Given the description of an element on the screen output the (x, y) to click on. 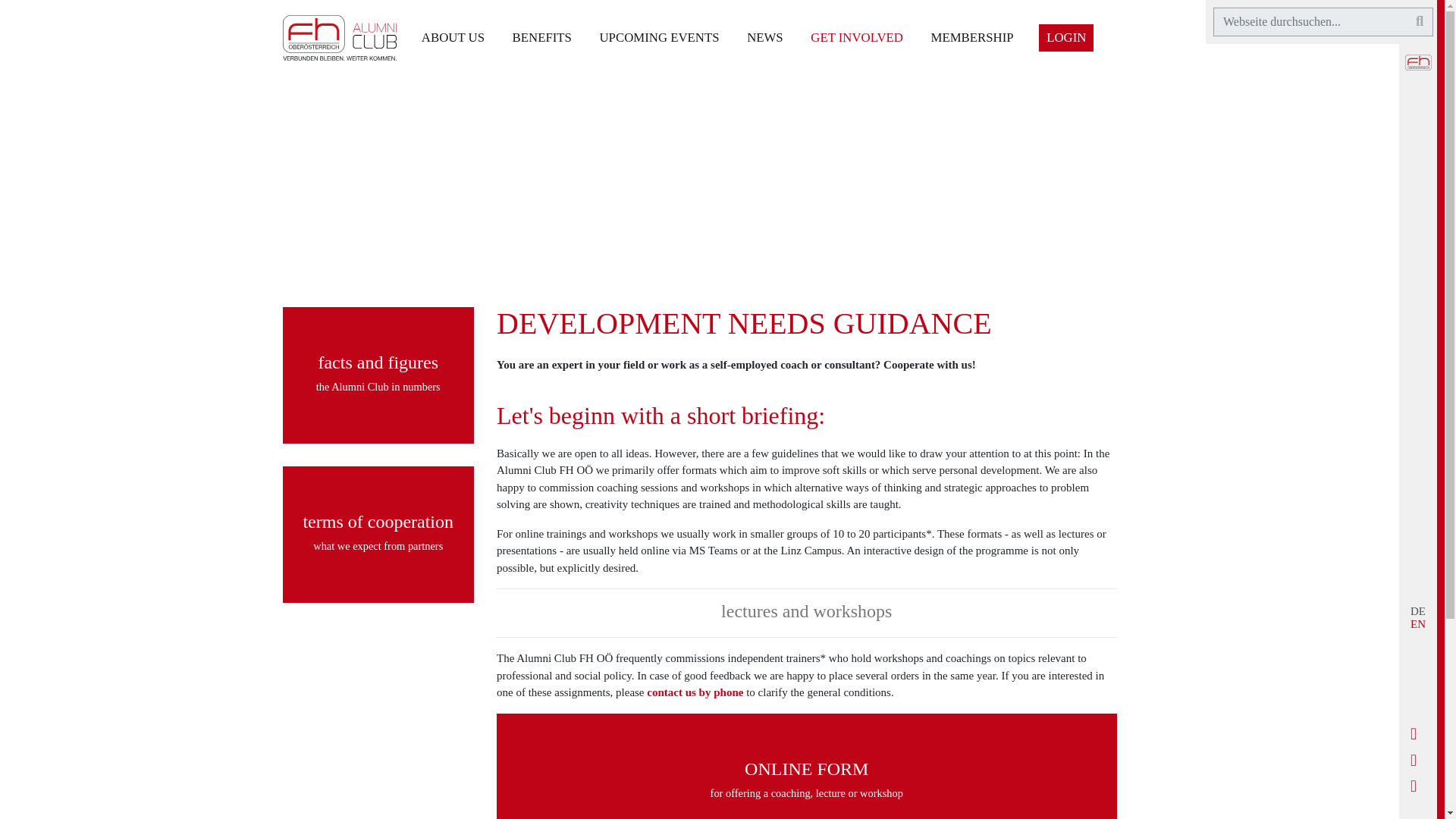
BENEFITS (542, 36)
MEMBERSHIP (972, 36)
contact us by phone (694, 692)
benefits (542, 36)
about us (454, 36)
LOGIN (1066, 37)
upcoming events (659, 36)
UPCOMING EVENTS (659, 36)
GET INVOLVED (856, 36)
NEWS (765, 36)
